Given the description of an element on the screen output the (x, y) to click on. 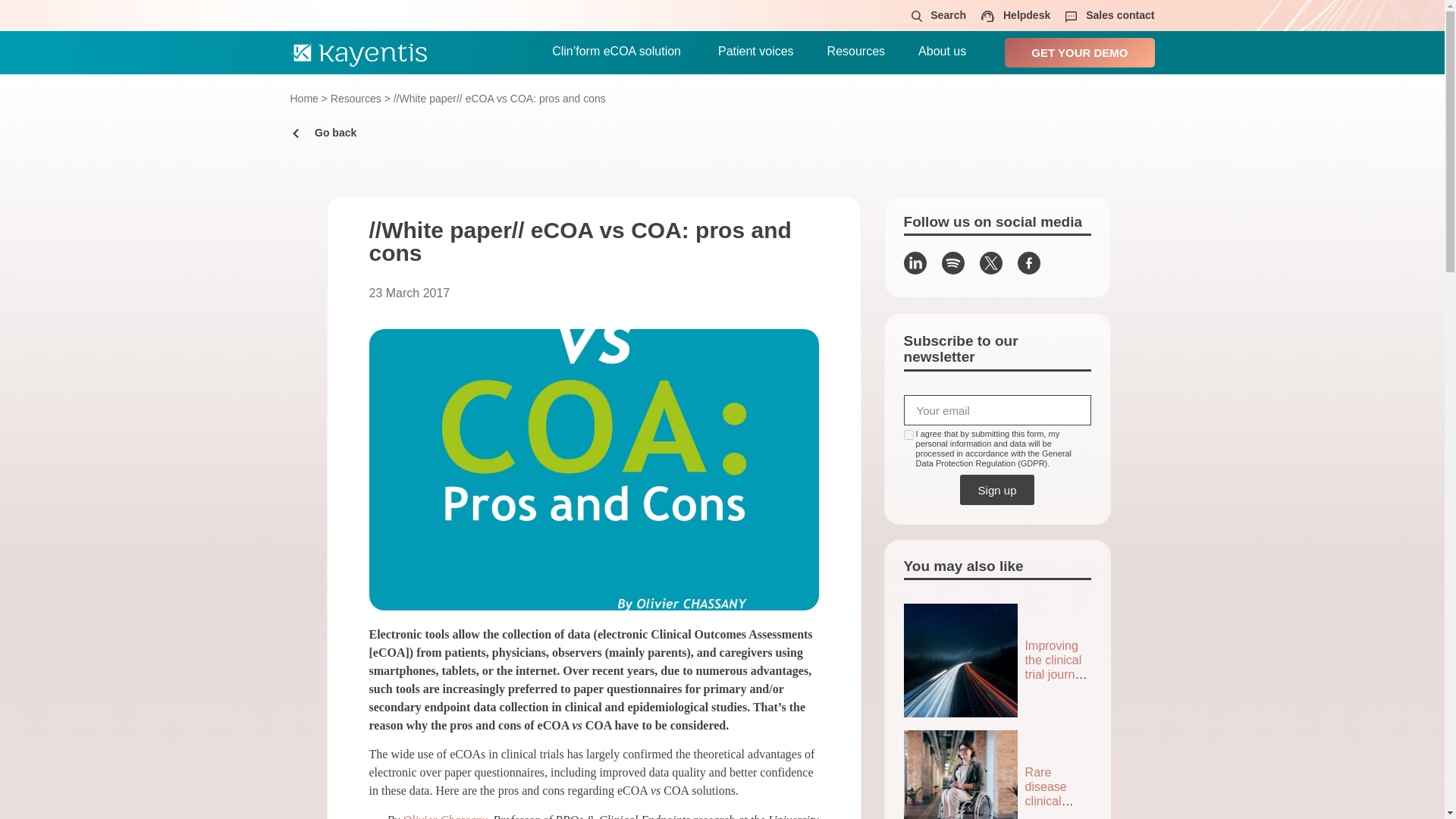
on (909, 434)
